Given the description of an element on the screen output the (x, y) to click on. 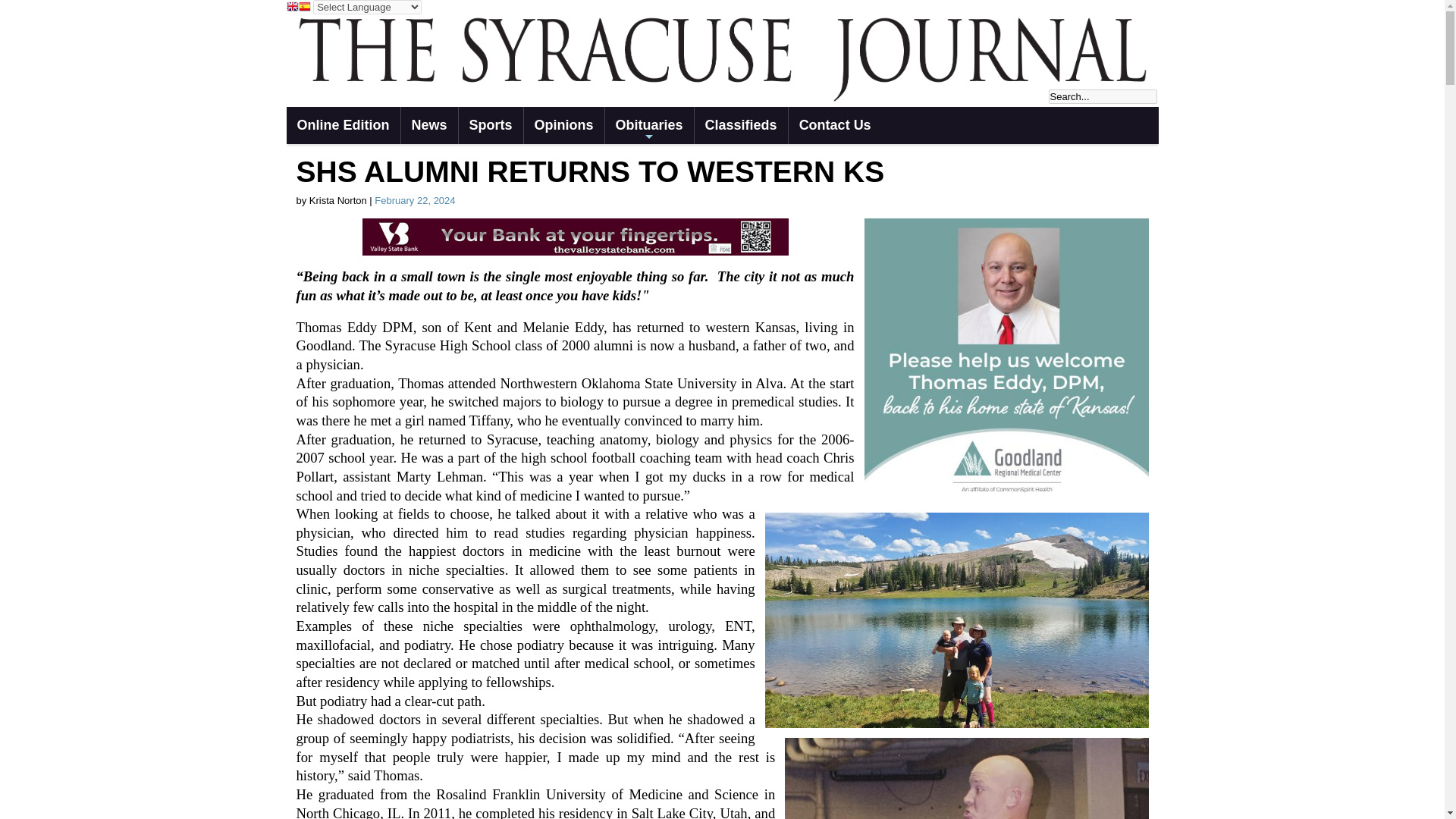
Sports (490, 125)
Classifieds (740, 125)
Contact Us (835, 125)
News (428, 125)
Search... (1102, 96)
Spanish (304, 7)
Opinions (564, 125)
English (292, 7)
Online Edition (343, 125)
